Given the description of an element on the screen output the (x, y) to click on. 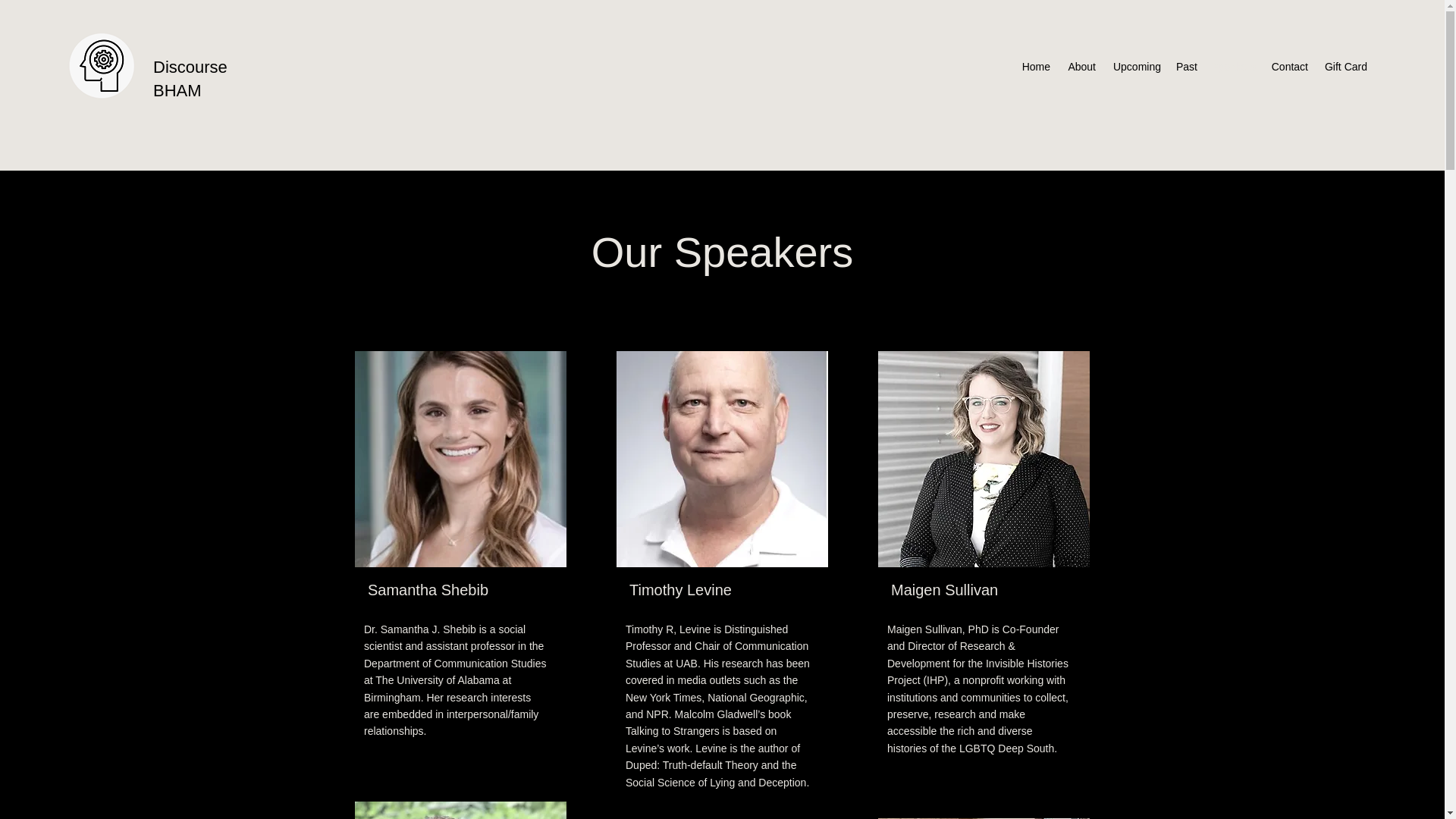
Contact (1289, 66)
Home (1035, 66)
Discourse BHAM (189, 78)
About (1080, 66)
Upcoming (1136, 66)
Speakers (1233, 66)
Gift Card (1345, 66)
Past (1186, 66)
